Given the description of an element on the screen output the (x, y) to click on. 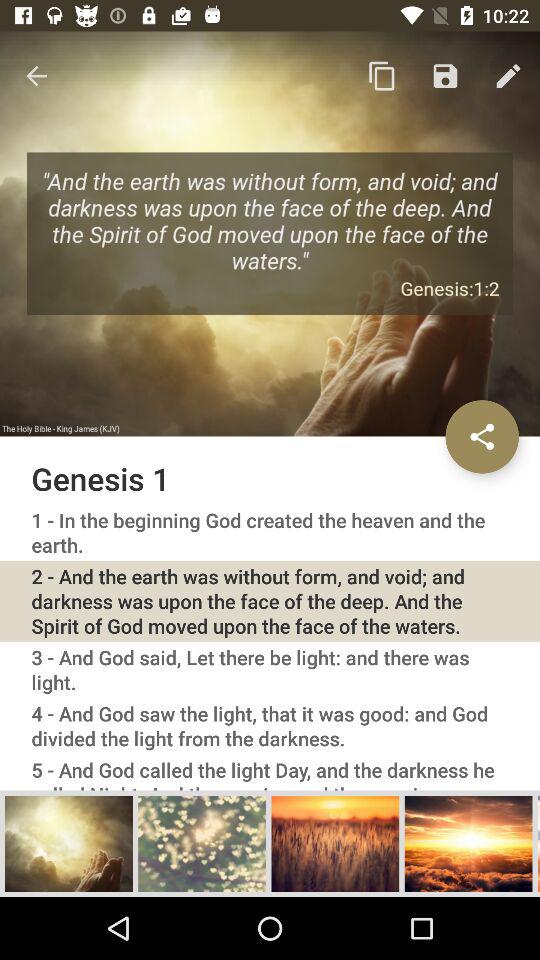
select the icon below genesis 1 (270, 532)
